Given the description of an element on the screen output the (x, y) to click on. 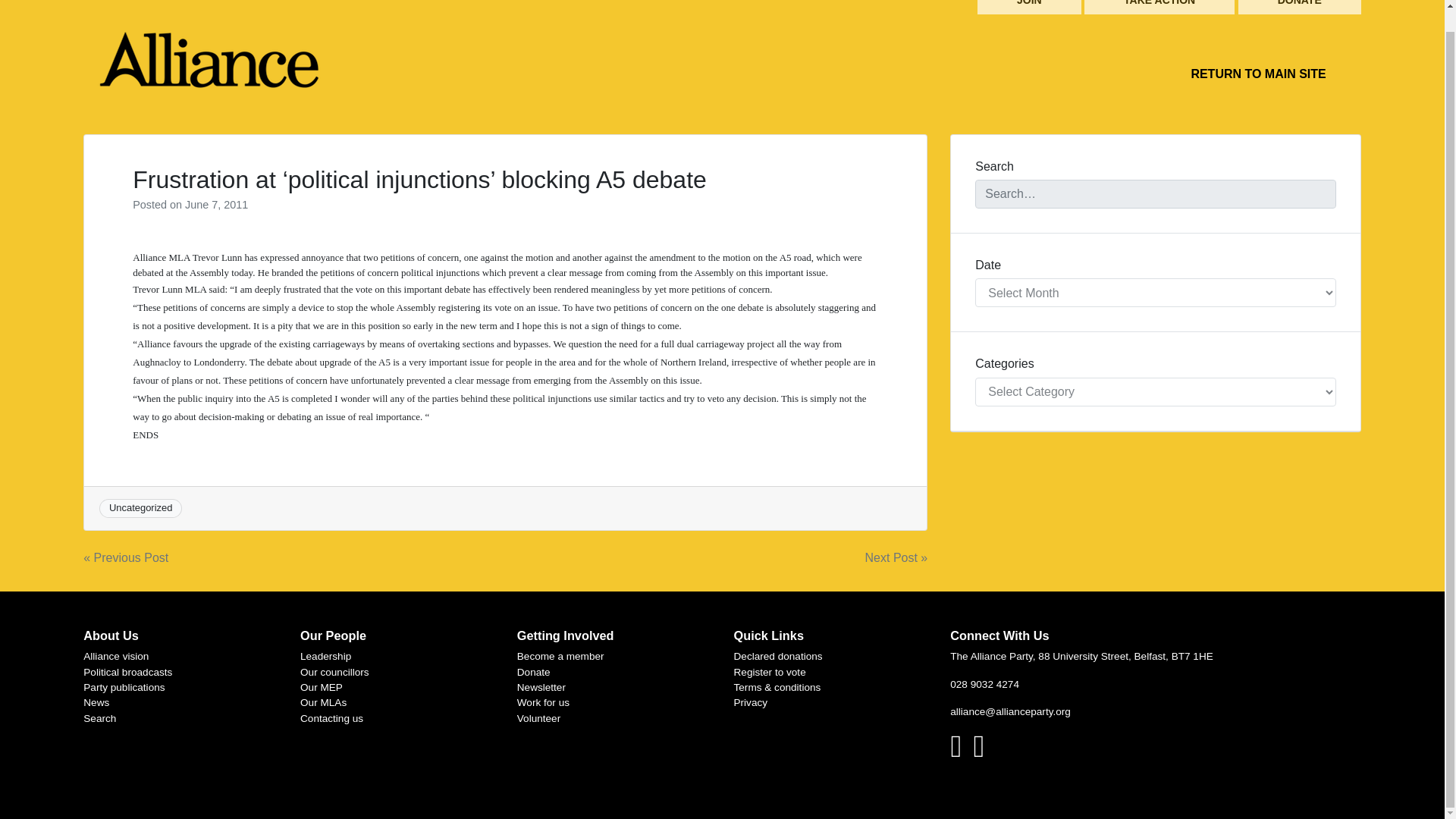
Donate (533, 672)
Declared donations (777, 655)
Work for us (542, 702)
Alliance vision (115, 655)
JOIN (1028, 7)
Register to vote (769, 672)
DONATE (1300, 7)
Our councillors (334, 672)
Our MEP (320, 686)
Become a member (560, 655)
Contacting us (330, 717)
Our MLAs (322, 702)
Party publications (123, 686)
Newsletter (541, 686)
Search (99, 717)
